Given the description of an element on the screen output the (x, y) to click on. 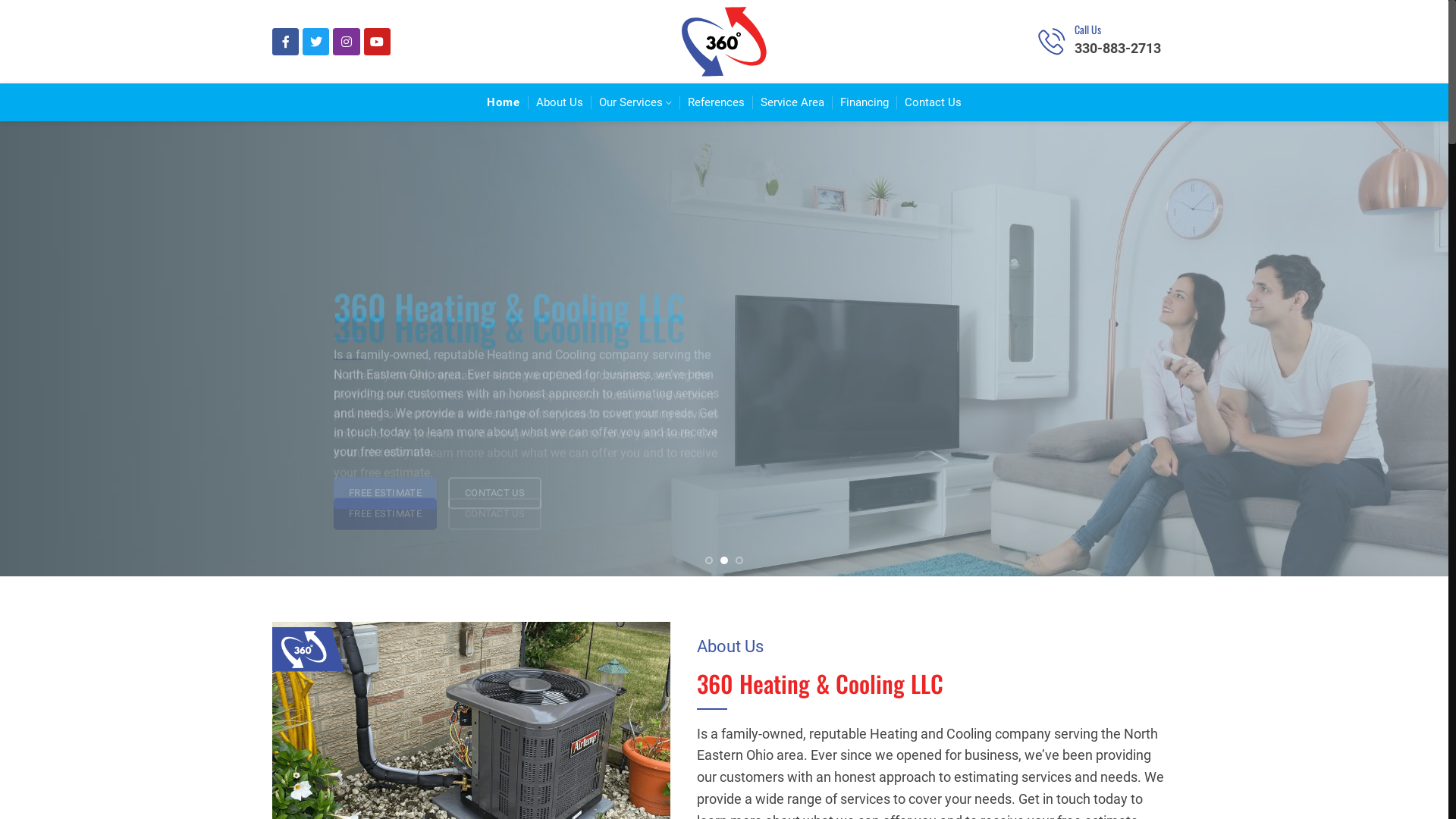
Call Us Element type: text (1087, 29)
Service Area Element type: text (792, 102)
Home Element type: text (503, 102)
Our Services Element type: text (635, 102)
CONTACT US Element type: text (494, 445)
Financing Element type: text (864, 102)
About Us Element type: text (559, 102)
FREE ESTIMATE Element type: text (384, 445)
References Element type: text (716, 102)
Contact Us Element type: text (933, 102)
